Given the description of an element on the screen output the (x, y) to click on. 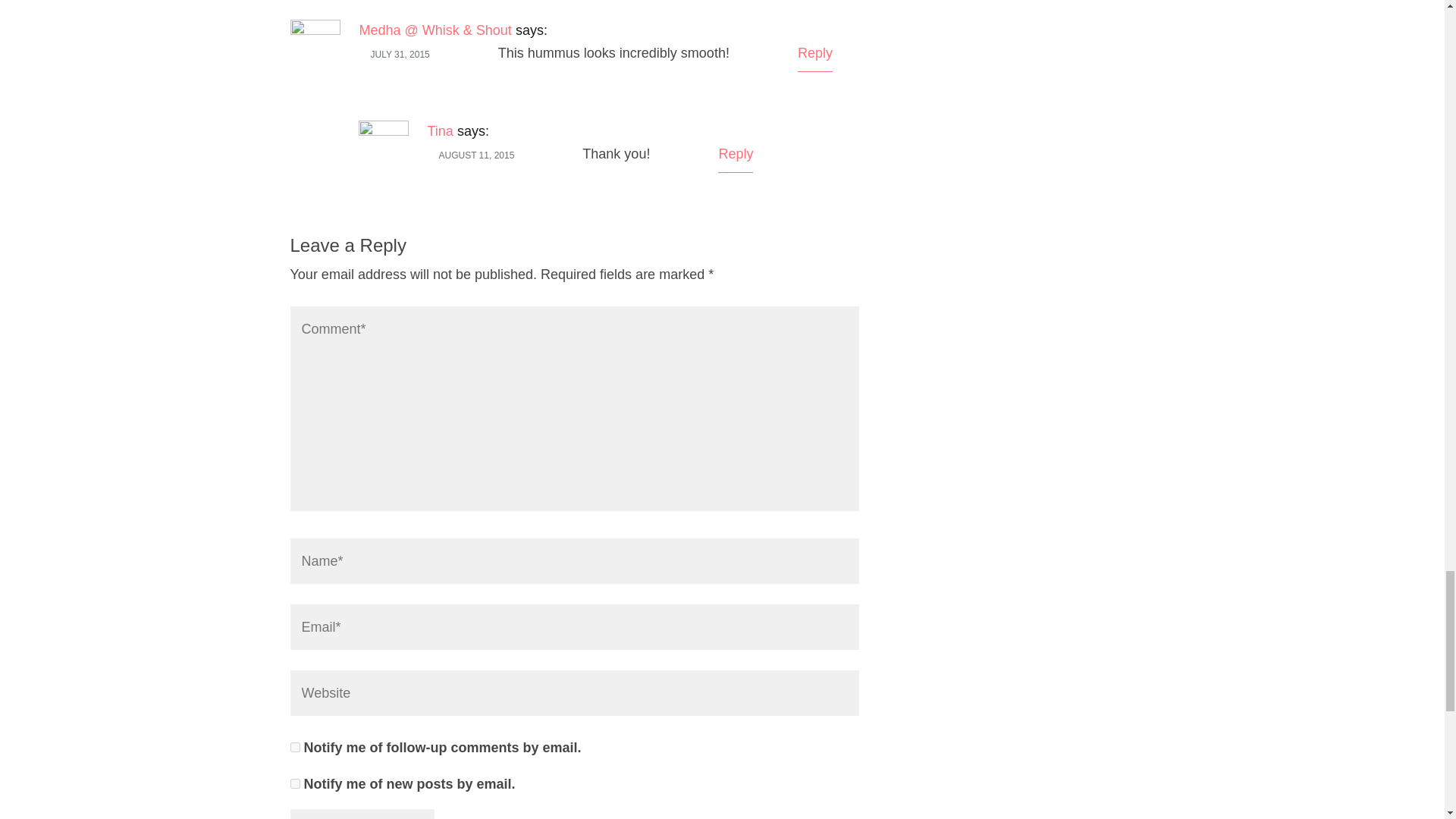
subscribe (294, 783)
subscribe (294, 747)
Post Comment (361, 814)
